Given the description of an element on the screen output the (x, y) to click on. 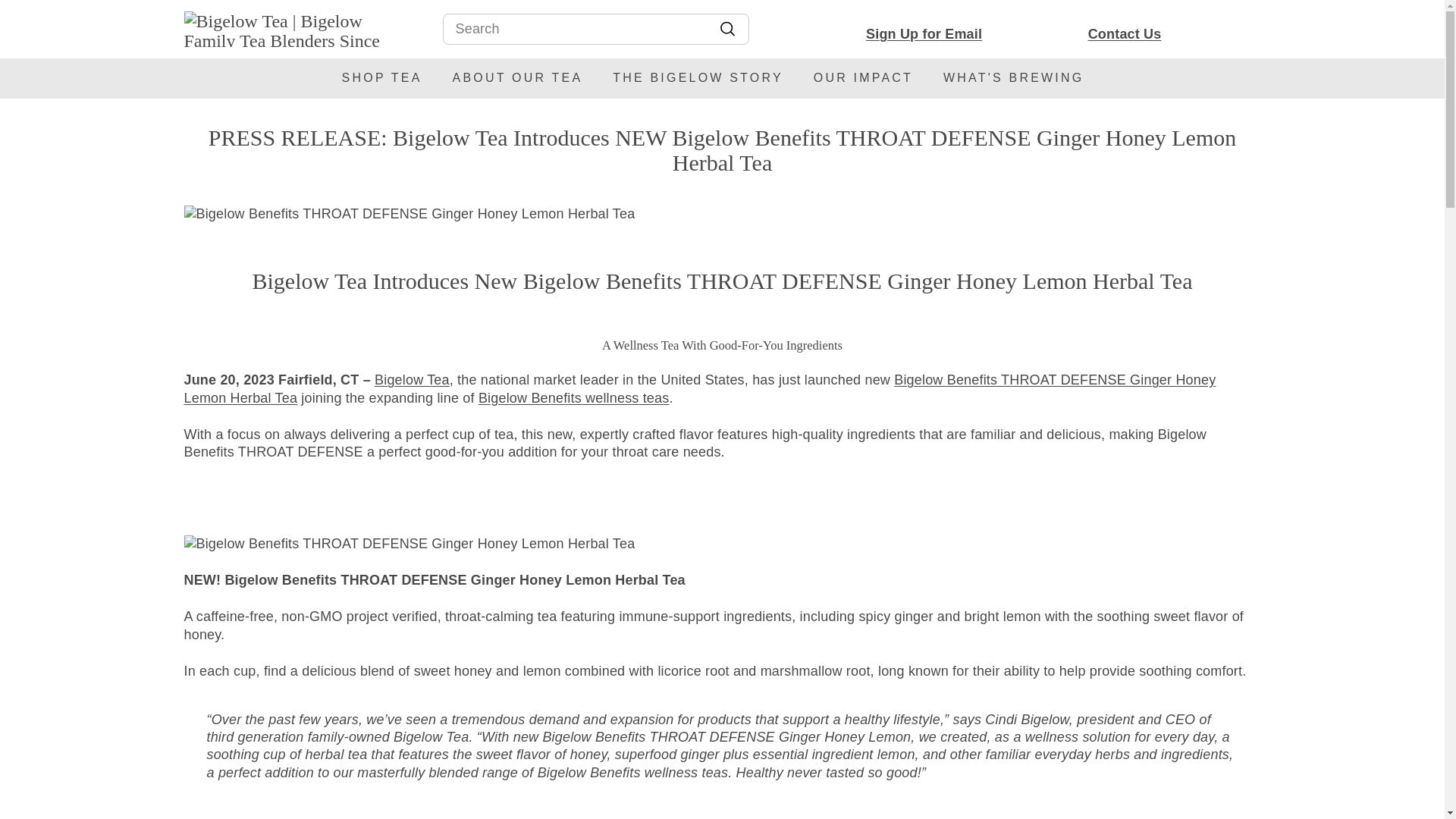
Sign Up for Email (870, 34)
Bigelow Benefits wellness teas (574, 397)
Bigelow Tea website (411, 379)
Contact Us (1070, 34)
